Given the description of an element on the screen output the (x, y) to click on. 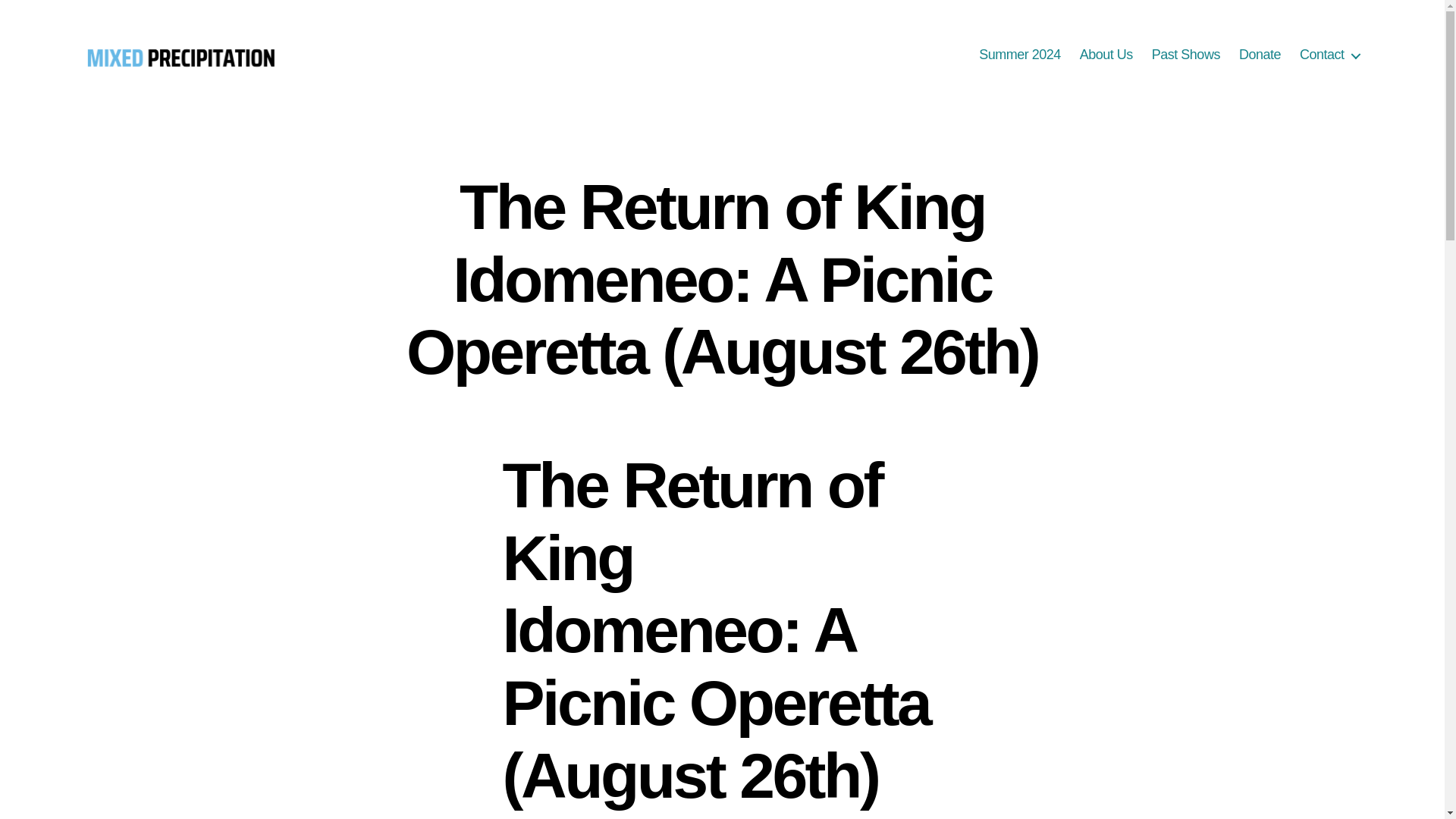
About Us (1106, 54)
Past Shows (1185, 54)
Summer 2024 (1019, 54)
Contact (1329, 54)
Donate (1260, 54)
